Given the description of an element on the screen output the (x, y) to click on. 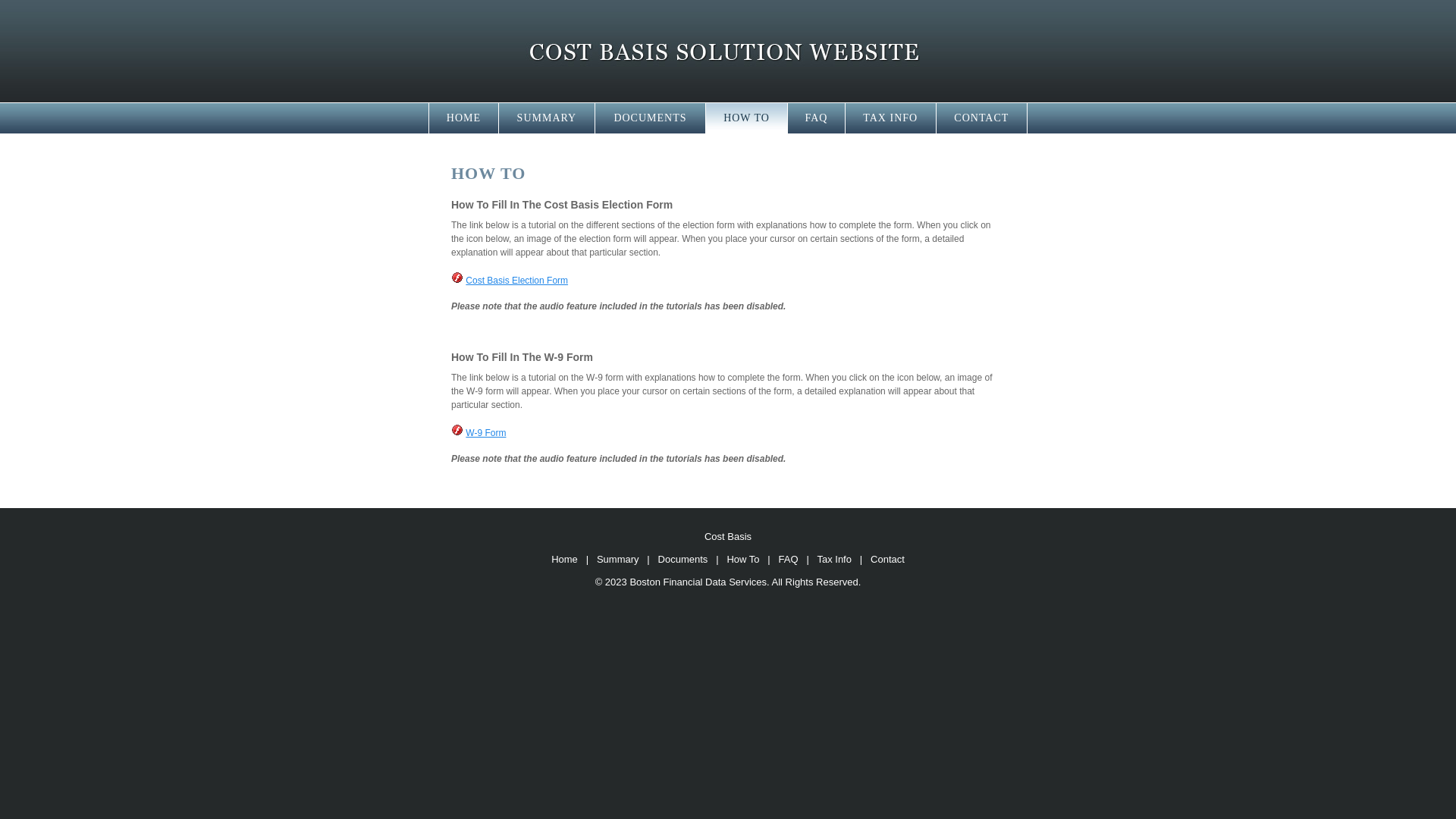
HOME Element type: text (463, 118)
W-9 Form Element type: text (485, 432)
FAQ Element type: text (788, 558)
Home Element type: text (564, 558)
HOW TO Element type: text (746, 118)
How To Element type: text (742, 558)
Tax Info Element type: text (833, 558)
Cost Basis Element type: hover (727, 51)
CONTACT Element type: text (981, 118)
TAX INFO Element type: text (890, 118)
DOCUMENTS Element type: text (650, 118)
Cost Basis Election Form Element type: text (516, 280)
FAQ Element type: text (815, 118)
Summary Element type: text (617, 558)
SUMMARY Element type: text (546, 118)
Documents Element type: text (683, 558)
Contact Element type: text (887, 558)
